Given the description of an element on the screen output the (x, y) to click on. 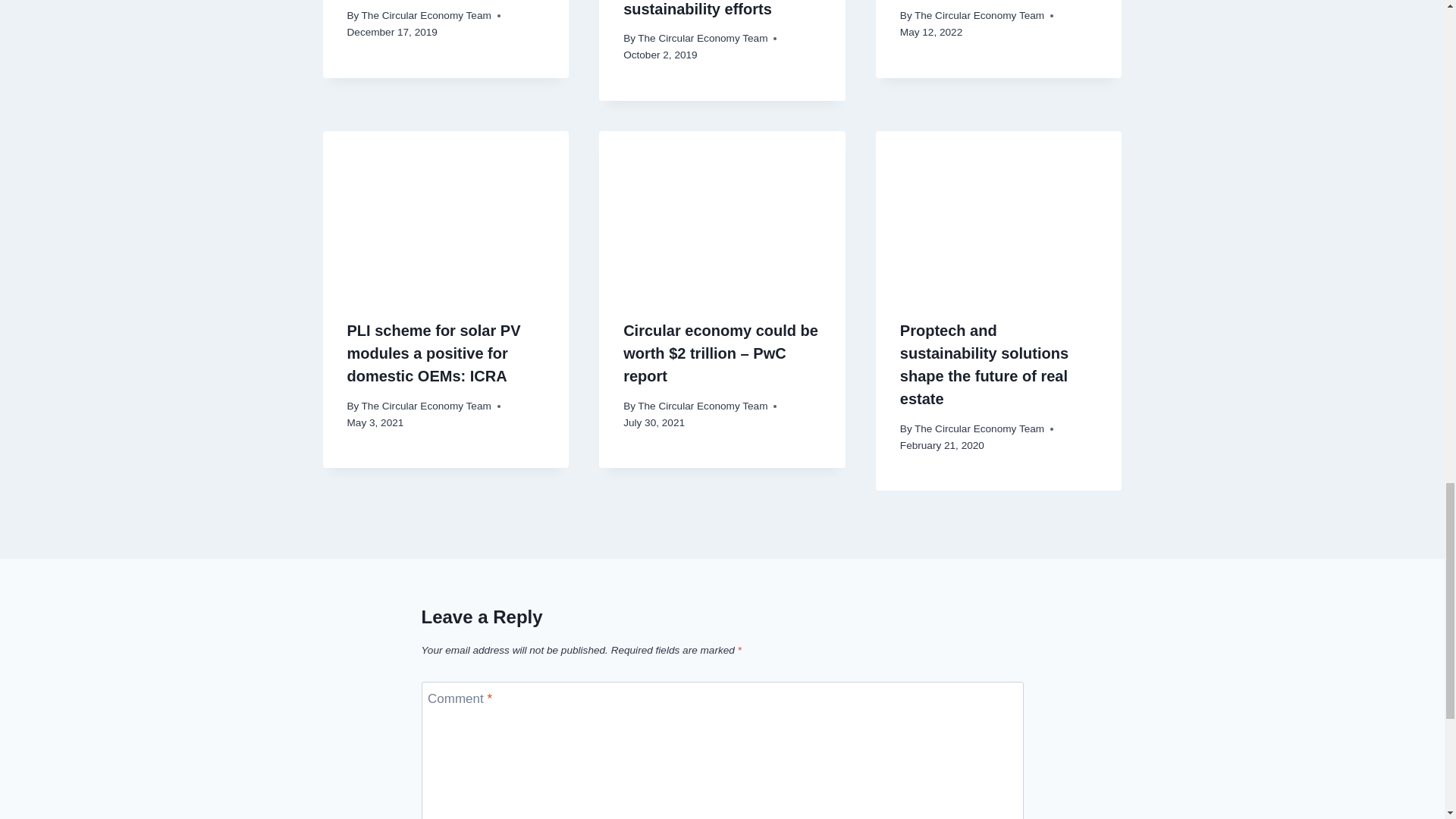
The Circular Economy Team (426, 15)
The Circular Economy Team (702, 38)
